Given the description of an element on the screen output the (x, y) to click on. 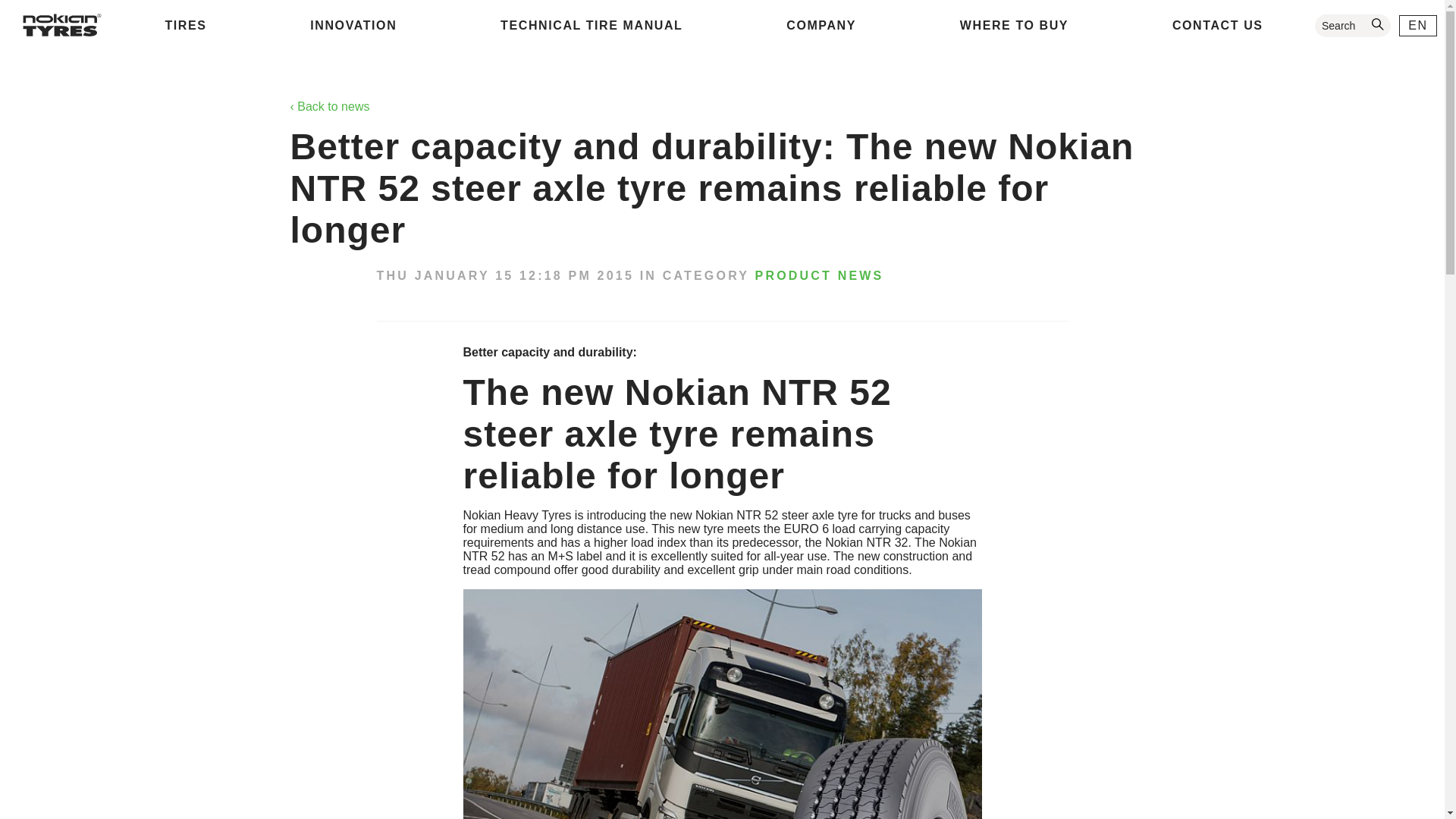
TECHNICAL TIRE MANUAL (591, 25)
CONTACT US (1217, 25)
TIRES (185, 25)
Search (1352, 25)
WHERE TO BUY (1013, 25)
INNOVATION (353, 25)
Select country (1417, 25)
COMPANY (820, 25)
EN (1417, 25)
